Given the description of an element on the screen output the (x, y) to click on. 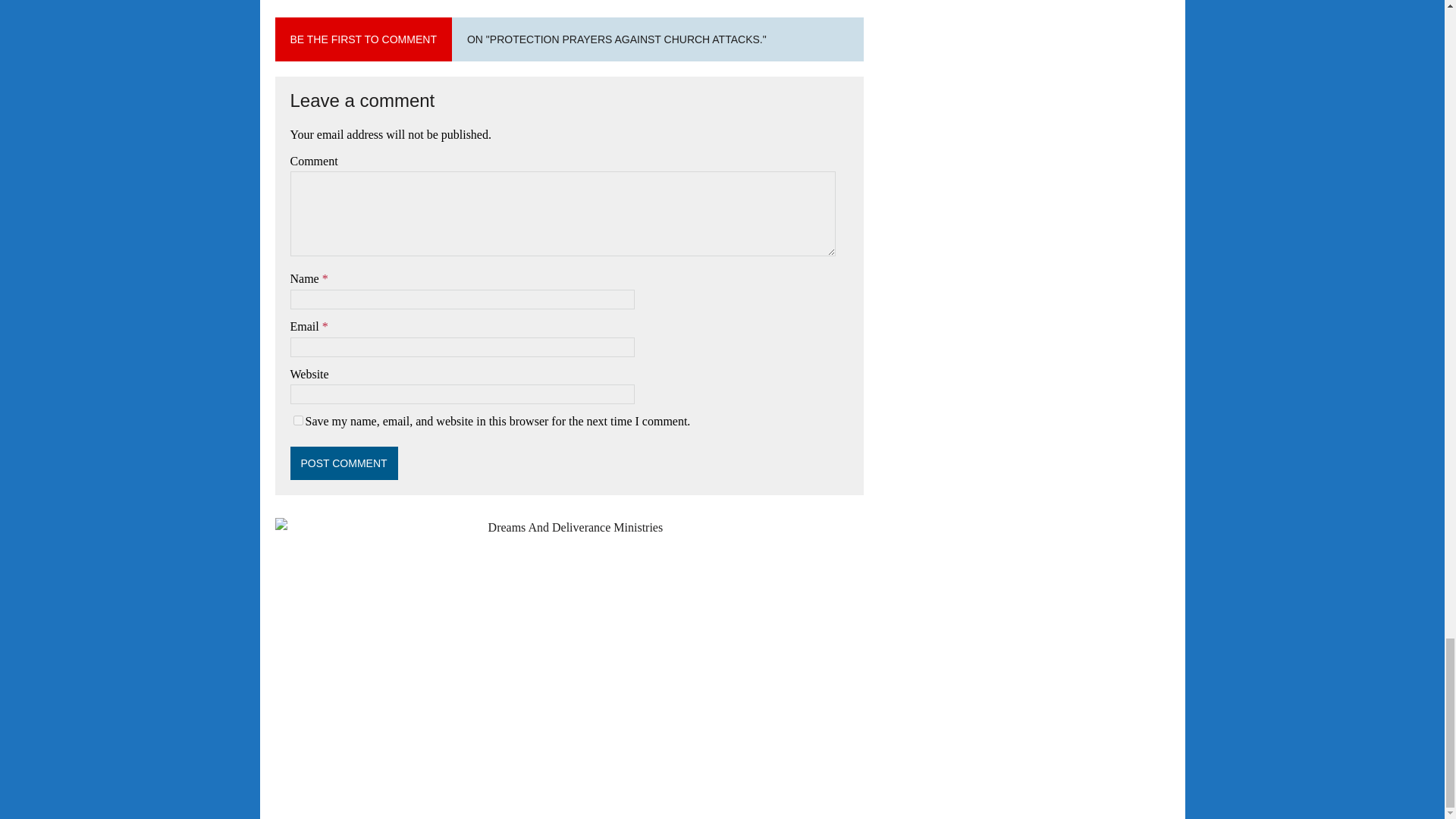
yes (297, 420)
Post Comment (343, 462)
Post Comment (343, 462)
